Given the description of an element on the screen output the (x, y) to click on. 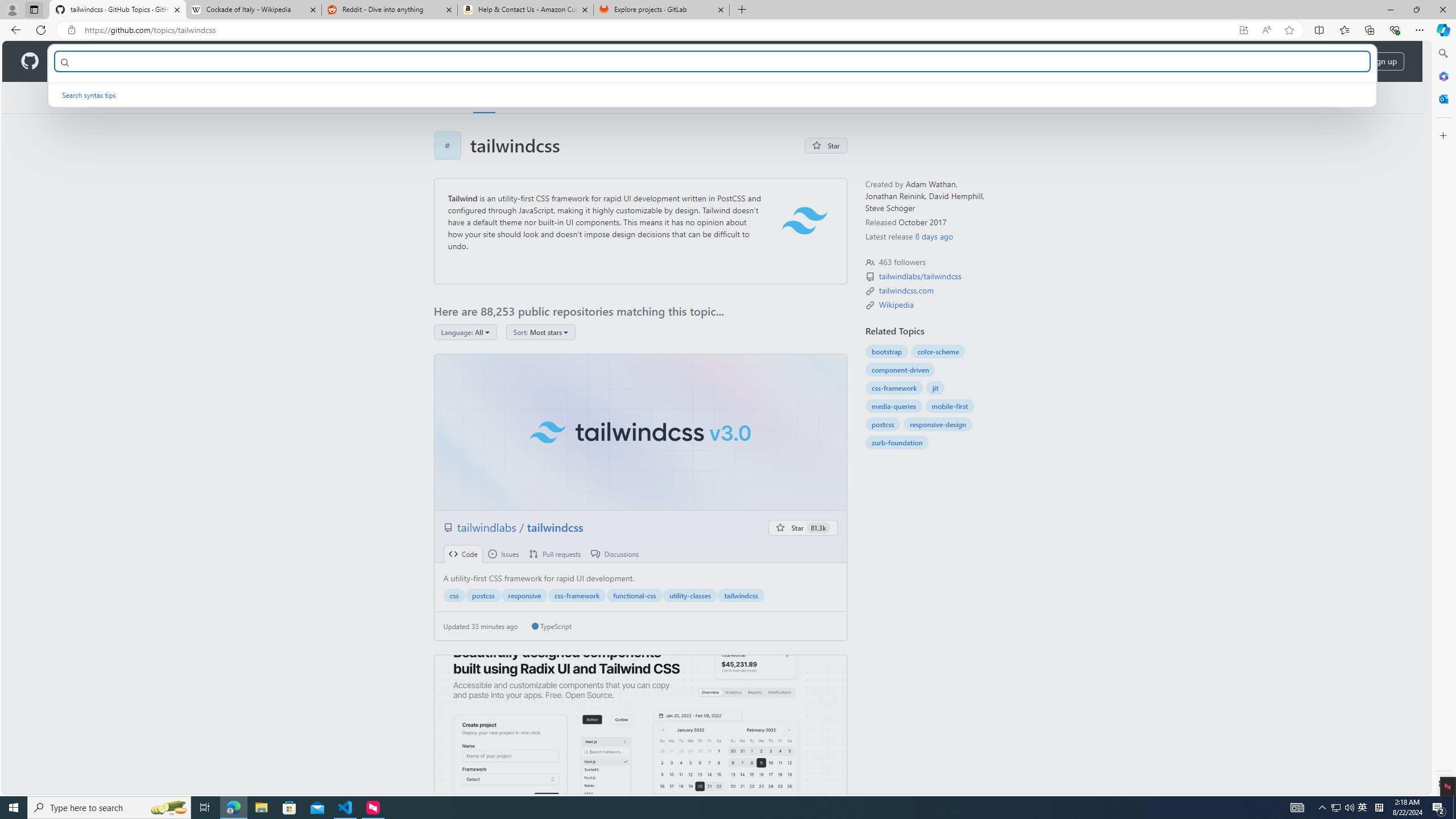
Pricing (368, 60)
Topic followers (869, 261)
Sign up (1382, 61)
Pricing (368, 60)
tailwindcss (640, 431)
functional-css (633, 594)
Updated 33 minutes ago (480, 625)
 Discussions (615, 553)
Language: All (464, 331)
Sort: Most stars (540, 331)
Solutions (128, 60)
